Given the description of an element on the screen output the (x, y) to click on. 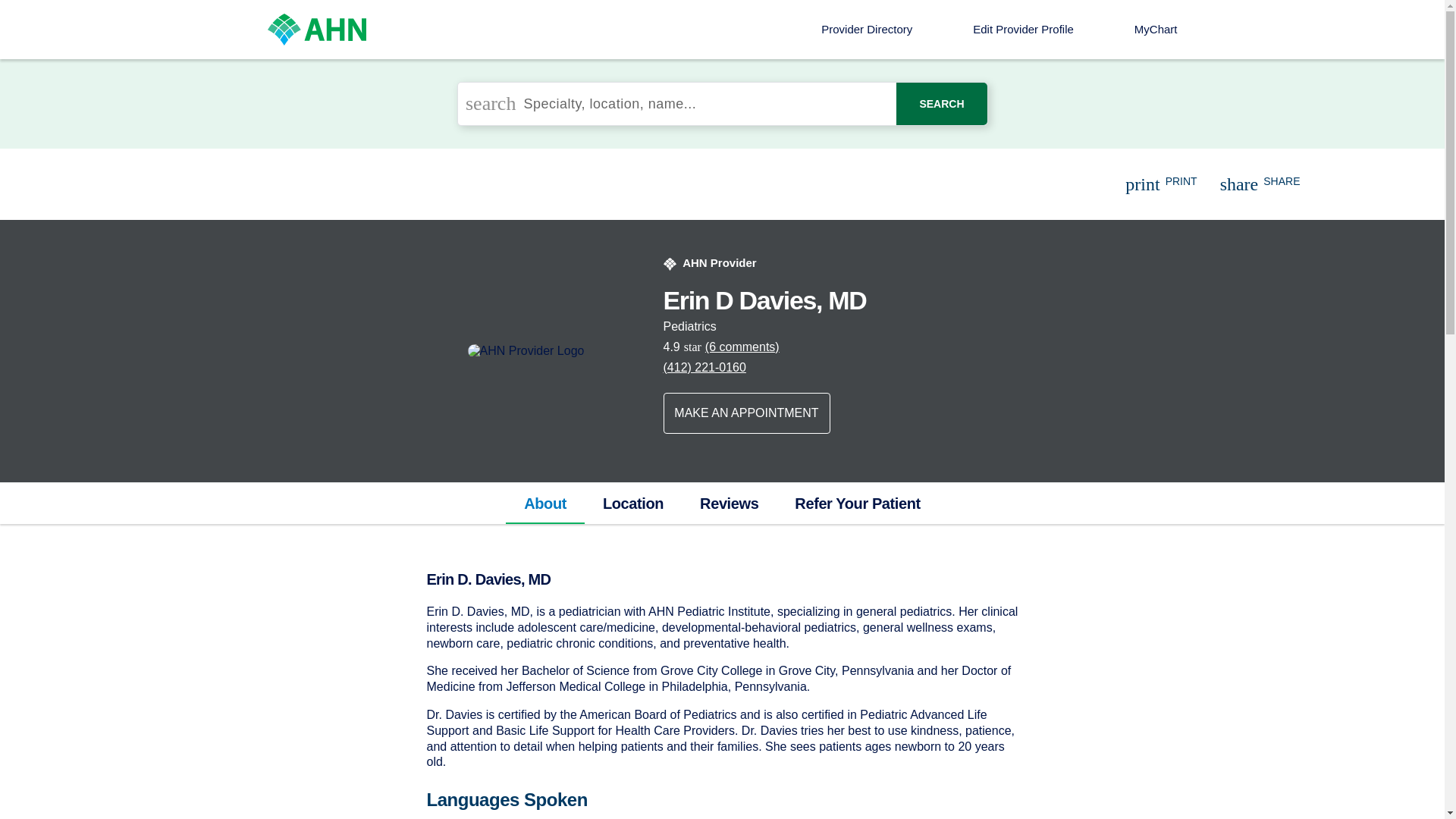
Edit Provider Profile (1023, 29)
SEARCH (941, 103)
Provider Directory (866, 29)
MyChart (1155, 29)
See Comments (743, 347)
MAKE AN APPOINTMENT (745, 413)
Make an Appointment (745, 413)
